Given the description of an element on the screen output the (x, y) to click on. 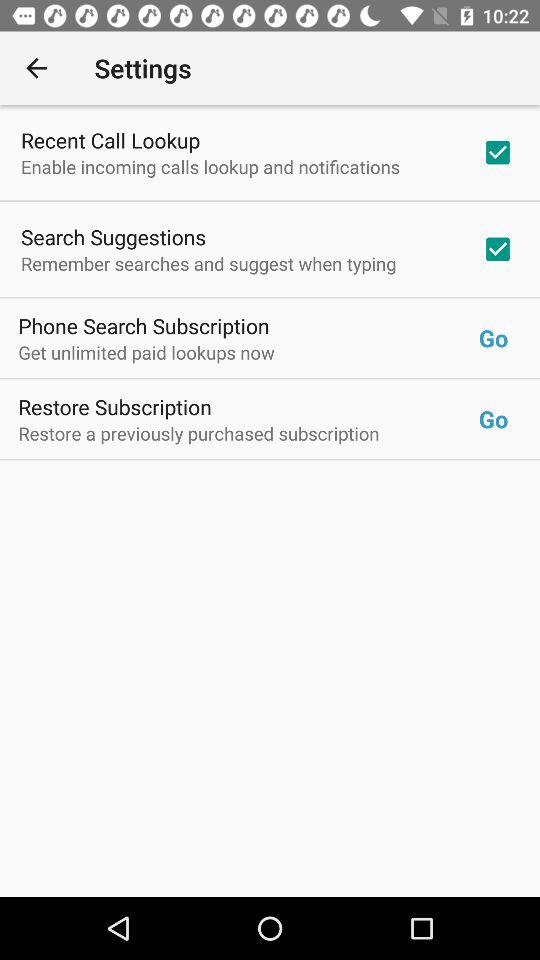
select item below the phone search subscription icon (248, 352)
